Given the description of an element on the screen output the (x, y) to click on. 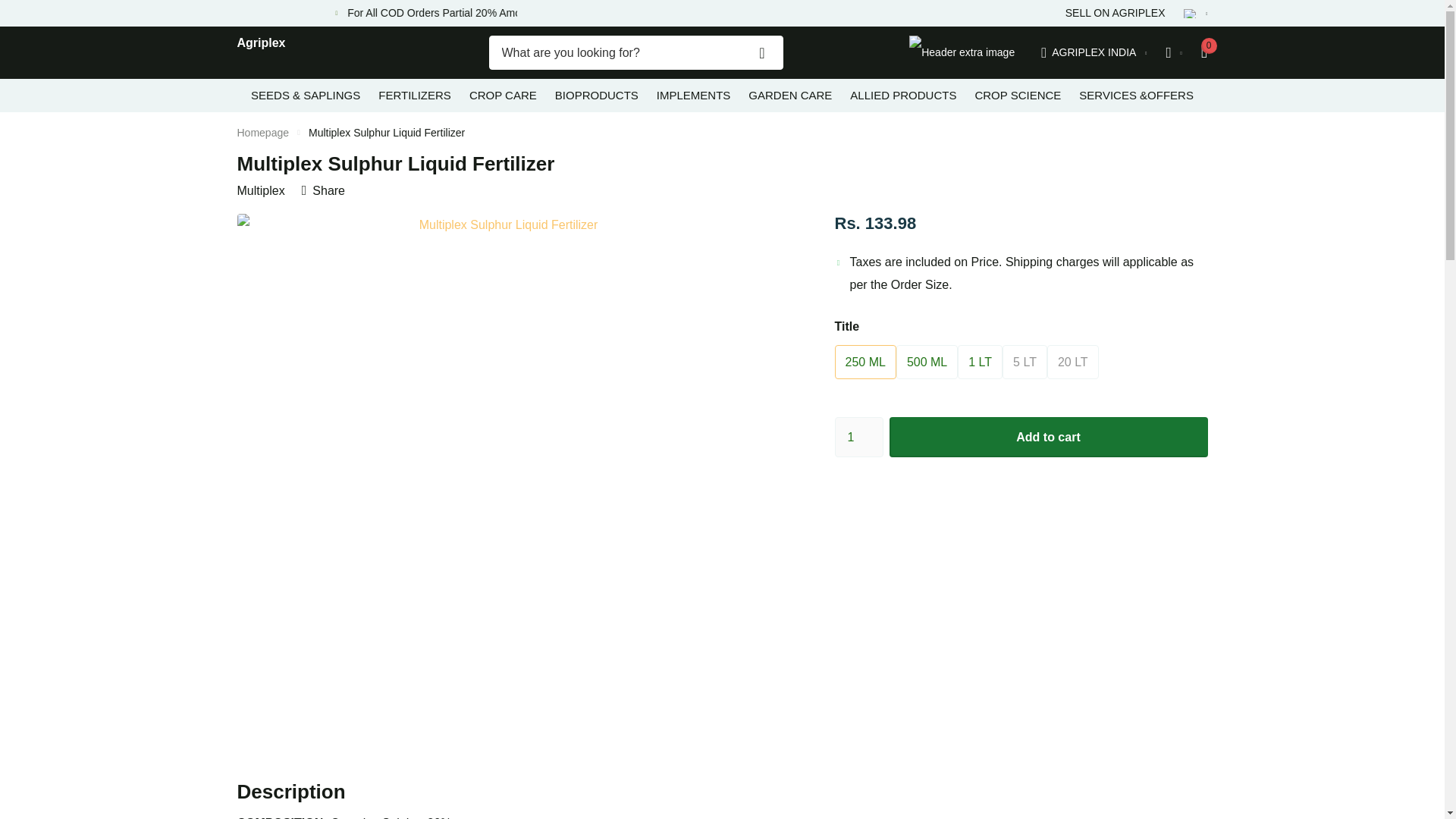
AGRIPLEX INDIA (1094, 52)
SELL ON AGRIPLEX (1115, 13)
Home (261, 132)
1 (858, 436)
Zoeken (762, 52)
